Given the description of an element on the screen output the (x, y) to click on. 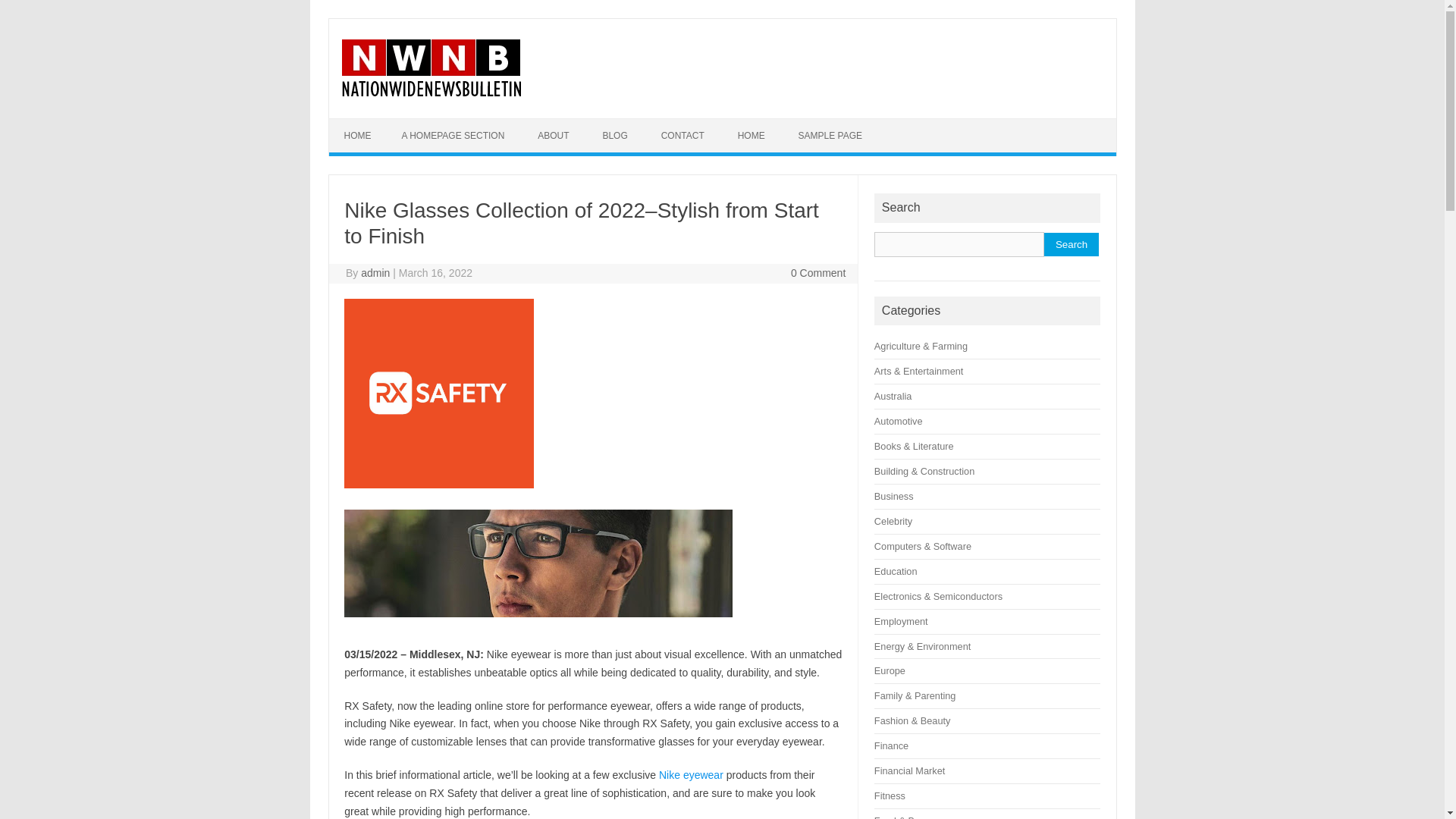
Skip to content (363, 122)
Education (896, 571)
Business (894, 496)
HOME (358, 135)
HOME (751, 135)
admin (375, 272)
0 Comment (817, 272)
Skip to content (363, 122)
A HOMEPAGE SECTION (453, 135)
BLOG (614, 135)
